Given the description of an element on the screen output the (x, y) to click on. 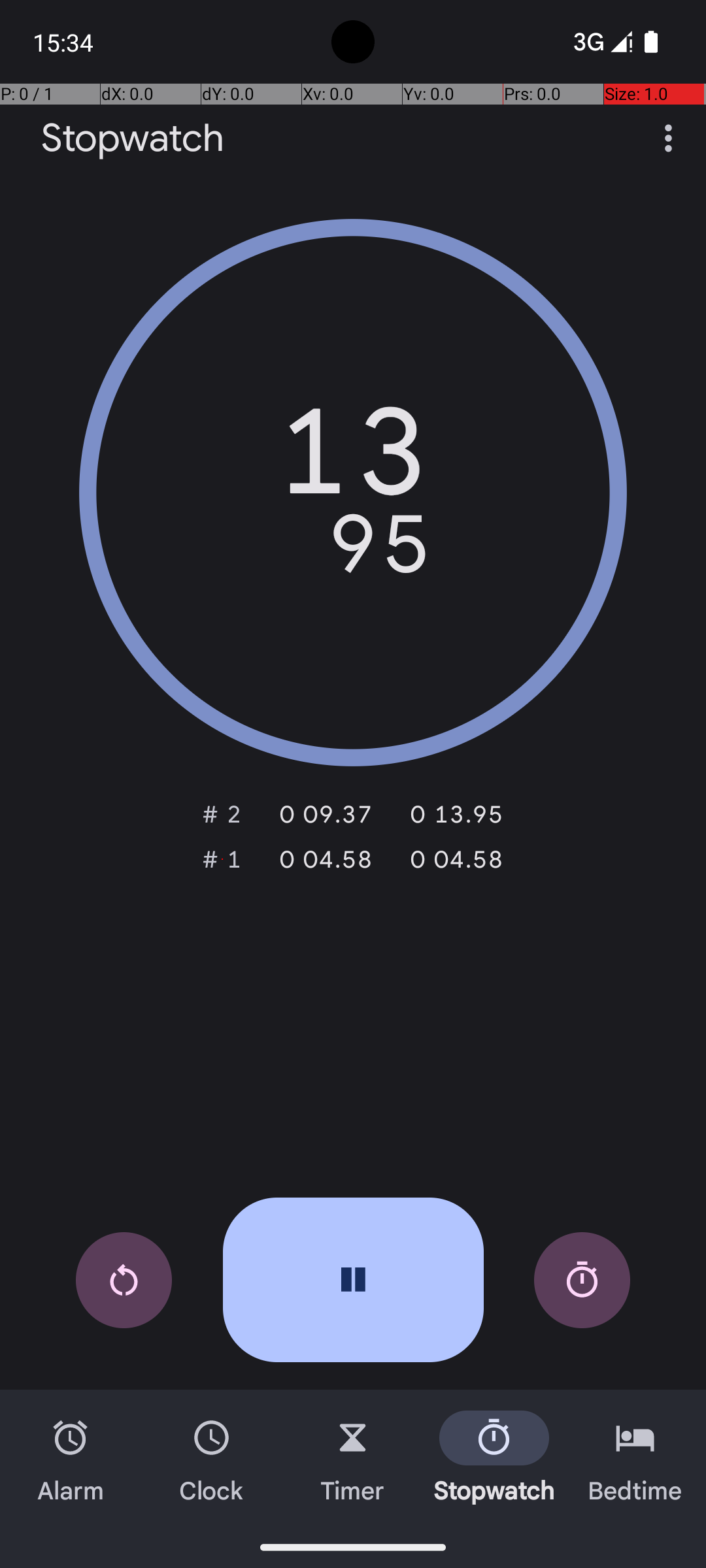
# 2 Element type: android.widget.TextView (221, 814)
0‎ 09.34 Element type: android.widget.TextView (317, 814)
0‎ 13.93 Element type: android.widget.TextView (448, 814)
# 1 Element type: android.widget.TextView (221, 859)
0‎ 04.58 Element type: android.widget.TextView (317, 859)
